Given the description of an element on the screen output the (x, y) to click on. 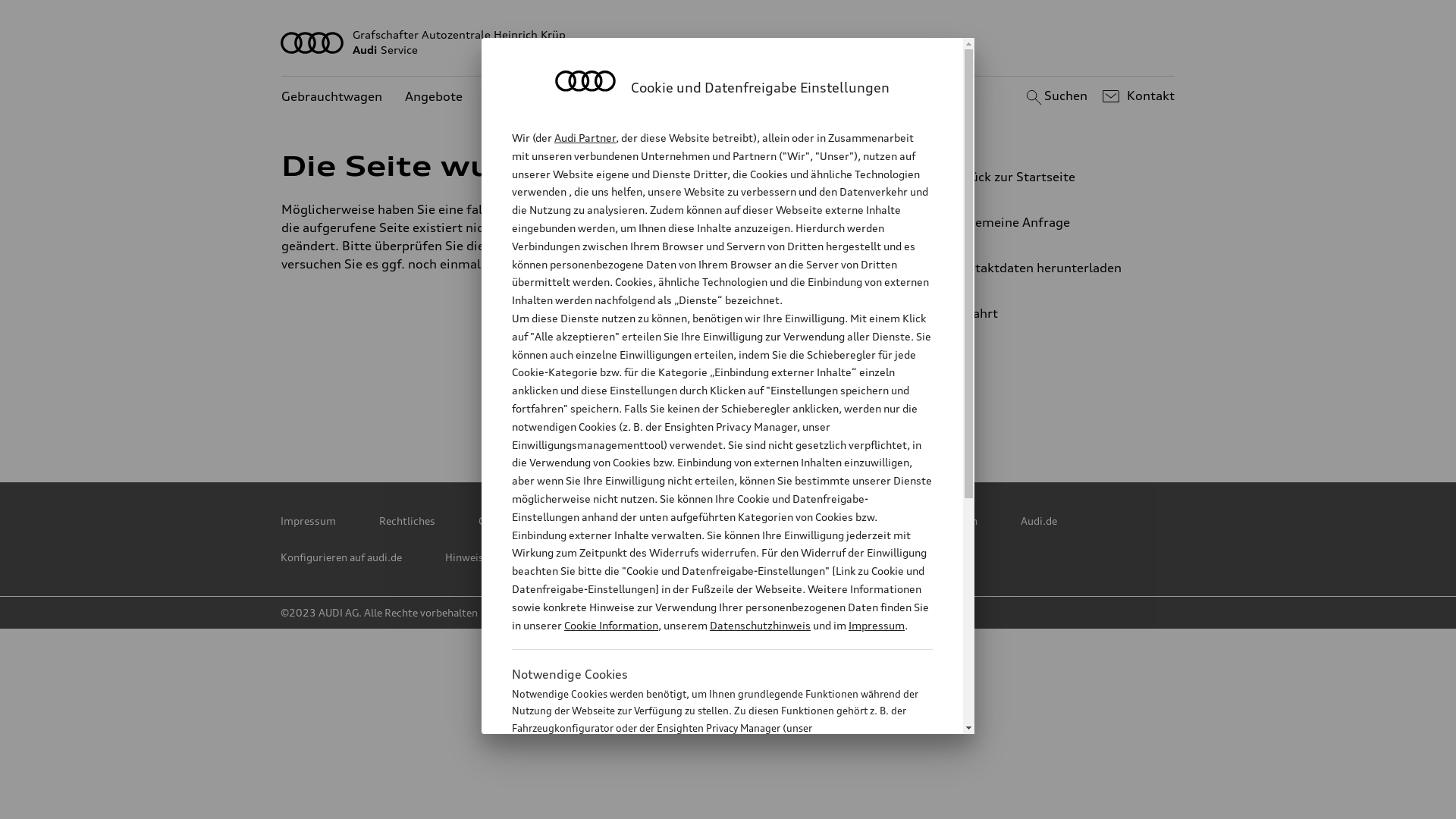
Cookie Policy Element type: text (711, 520)
Kontakt Element type: text (1135, 96)
Kontaktdaten herunterladen Element type: text (1043, 267)
Audi.de Element type: text (1038, 520)
Audi Partner Element type: text (584, 137)
Angebote Element type: text (433, 96)
Rechtliches Element type: text (407, 520)
Instagram Element type: hover (763, 410)
Allgemeine Anfrage Element type: text (1043, 222)
Cookie Information Element type: text (611, 624)
Kundenservice Element type: text (528, 96)
Suchen Element type: text (1054, 96)
Cookie und Datenfreigabe Einstellungen Element type: text (881, 520)
Facebook Element type: hover (696, 410)
Anfahrt Element type: text (1049, 313)
Datenschutzhinweis Element type: text (759, 624)
Konfigurieren auf audi.de Element type: text (340, 557)
Gebrauchtwagen Element type: text (331, 96)
Hinweisgebersystem Element type: text (495, 557)
Copyright & Haftungsausschluss Element type: text (557, 520)
Impressum Element type: text (876, 624)
Impressum Element type: text (307, 520)
Cookie Information Element type: text (705, 802)
